Given the description of an element on the screen output the (x, y) to click on. 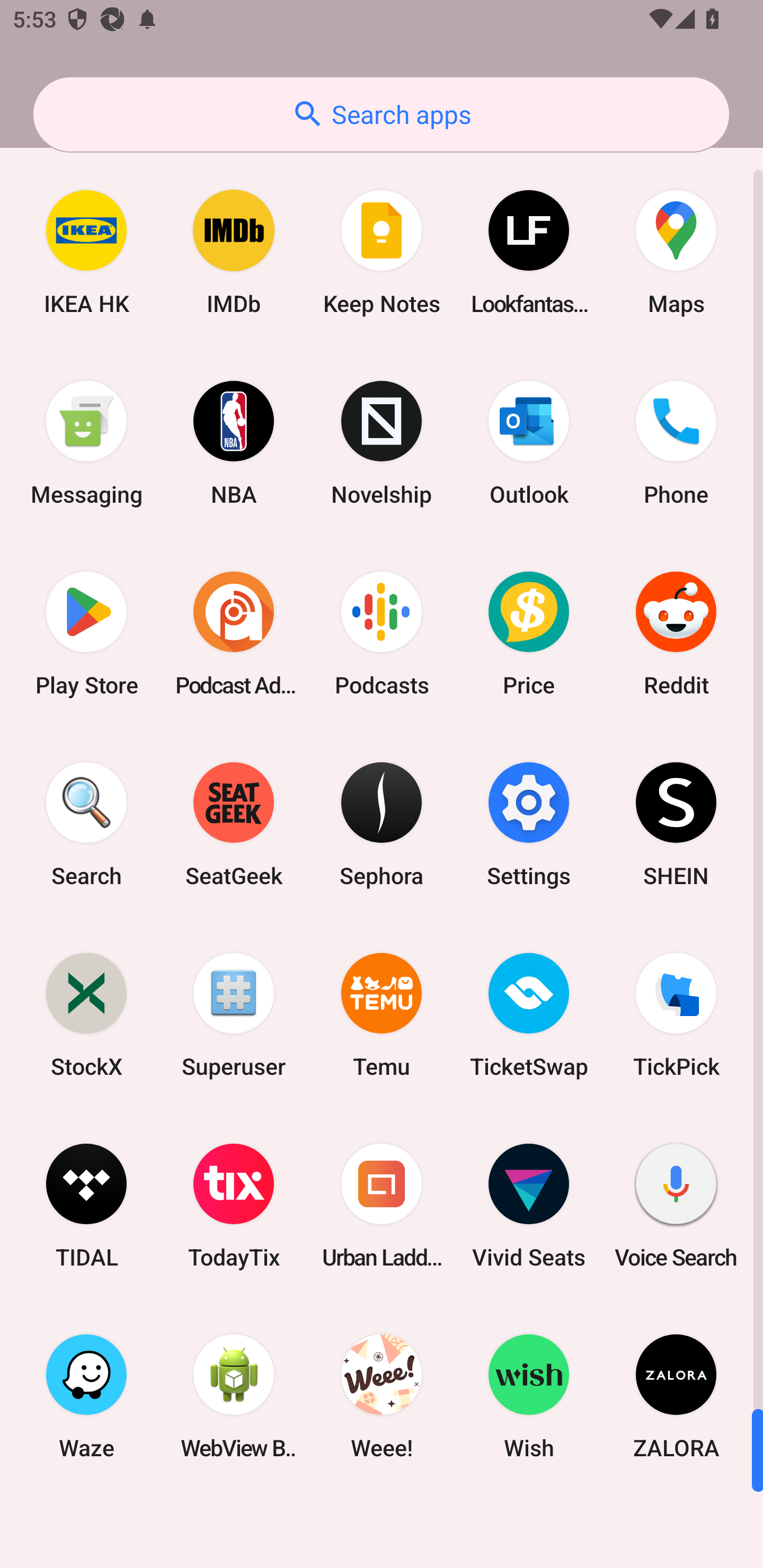
  Search apps (381, 114)
IKEA HK (86, 252)
IMDb (233, 252)
Keep Notes (381, 252)
Lookfantastic (528, 252)
Maps (676, 252)
Messaging (86, 442)
NBA (233, 442)
Novelship (381, 442)
Outlook (528, 442)
Phone (676, 442)
Play Store (86, 633)
Podcast Addict (233, 633)
Podcasts (381, 633)
Price (528, 633)
Reddit (676, 633)
Search (86, 823)
SeatGeek (233, 823)
Sephora (381, 823)
Settings (528, 823)
SHEIN (676, 823)
StockX (86, 1014)
Superuser (233, 1014)
Temu (381, 1014)
TicketSwap (528, 1014)
TickPick (676, 1014)
TIDAL (86, 1205)
TodayTix (233, 1205)
Urban Ladder (381, 1205)
Vivid Seats (528, 1205)
Voice Search (676, 1205)
Waze (86, 1396)
WebView Browser Tester (233, 1396)
Weee! (381, 1396)
Wish (528, 1396)
ZALORA (676, 1396)
